Given the description of an element on the screen output the (x, y) to click on. 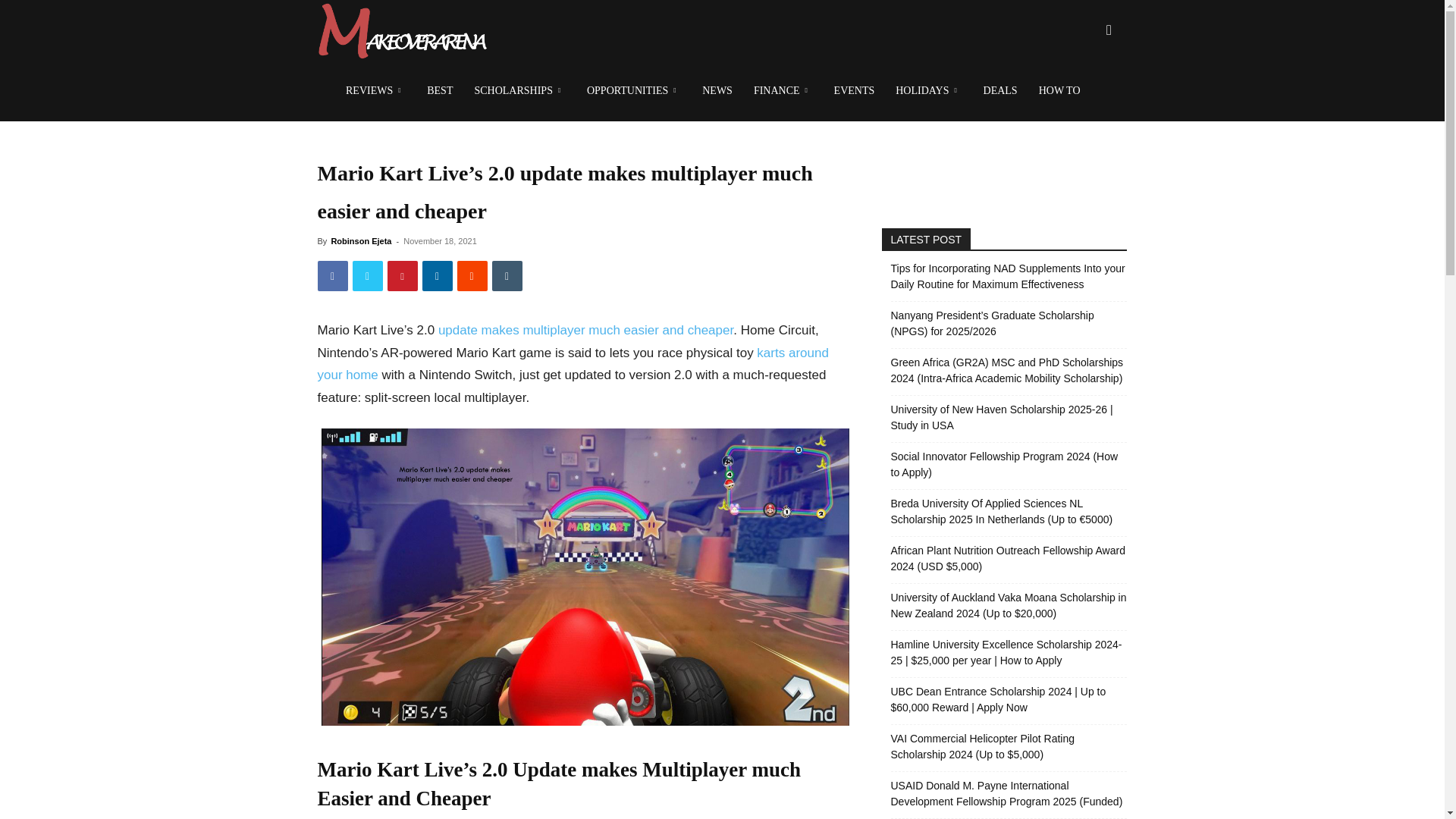
Linkedin (436, 276)
Twitter (366, 276)
Pinterest (401, 276)
Tumblr (506, 276)
Facebook (332, 276)
ReddIt (471, 276)
